Given the description of an element on the screen output the (x, y) to click on. 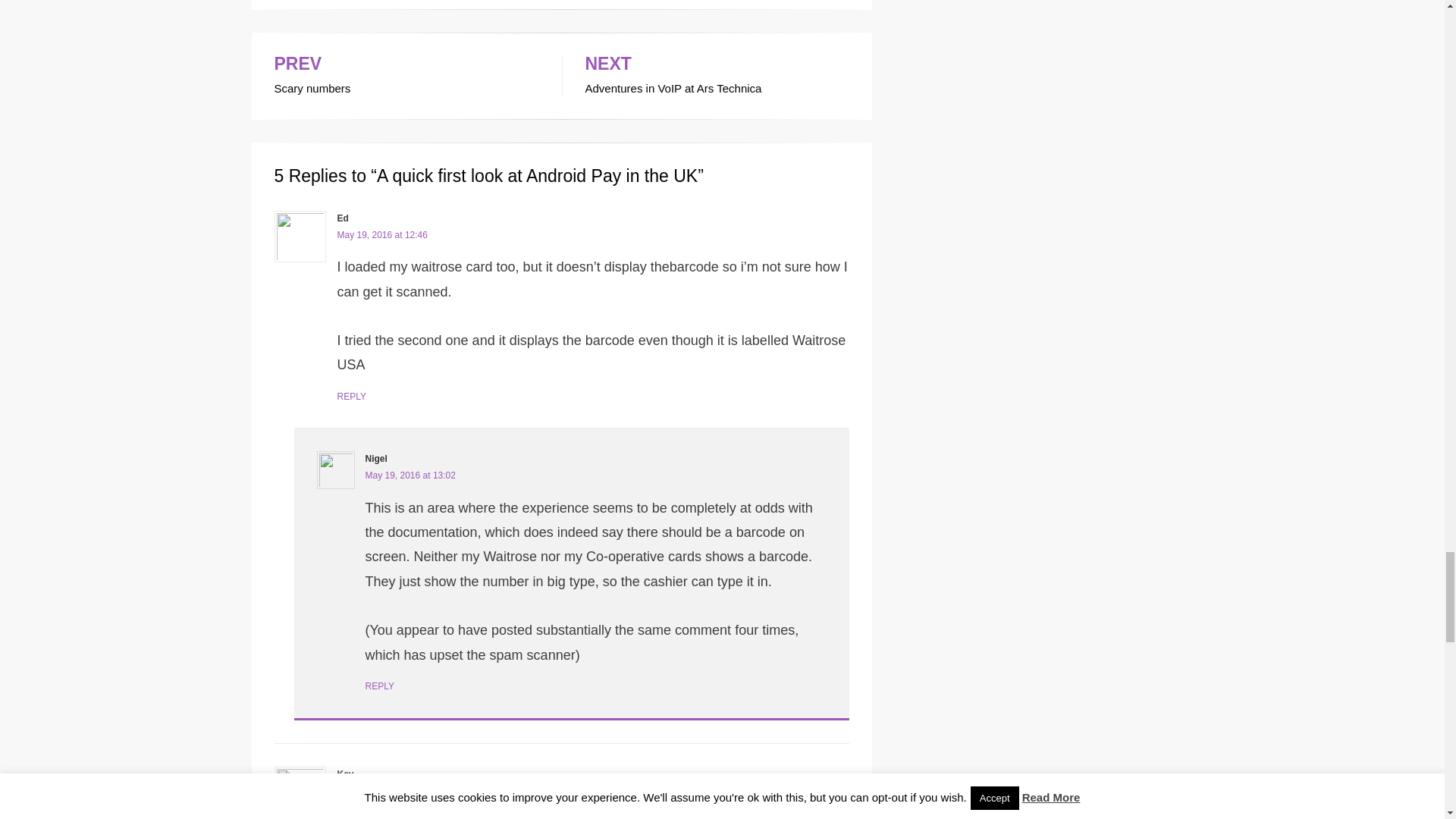
May 19, 2016 at 12:46 (381, 235)
May 19, 2016 at 20:39 (716, 76)
REPLY (406, 76)
Nigel (381, 789)
REPLY (350, 396)
May 19, 2016 at 13:02 (376, 458)
